Given the description of an element on the screen output the (x, y) to click on. 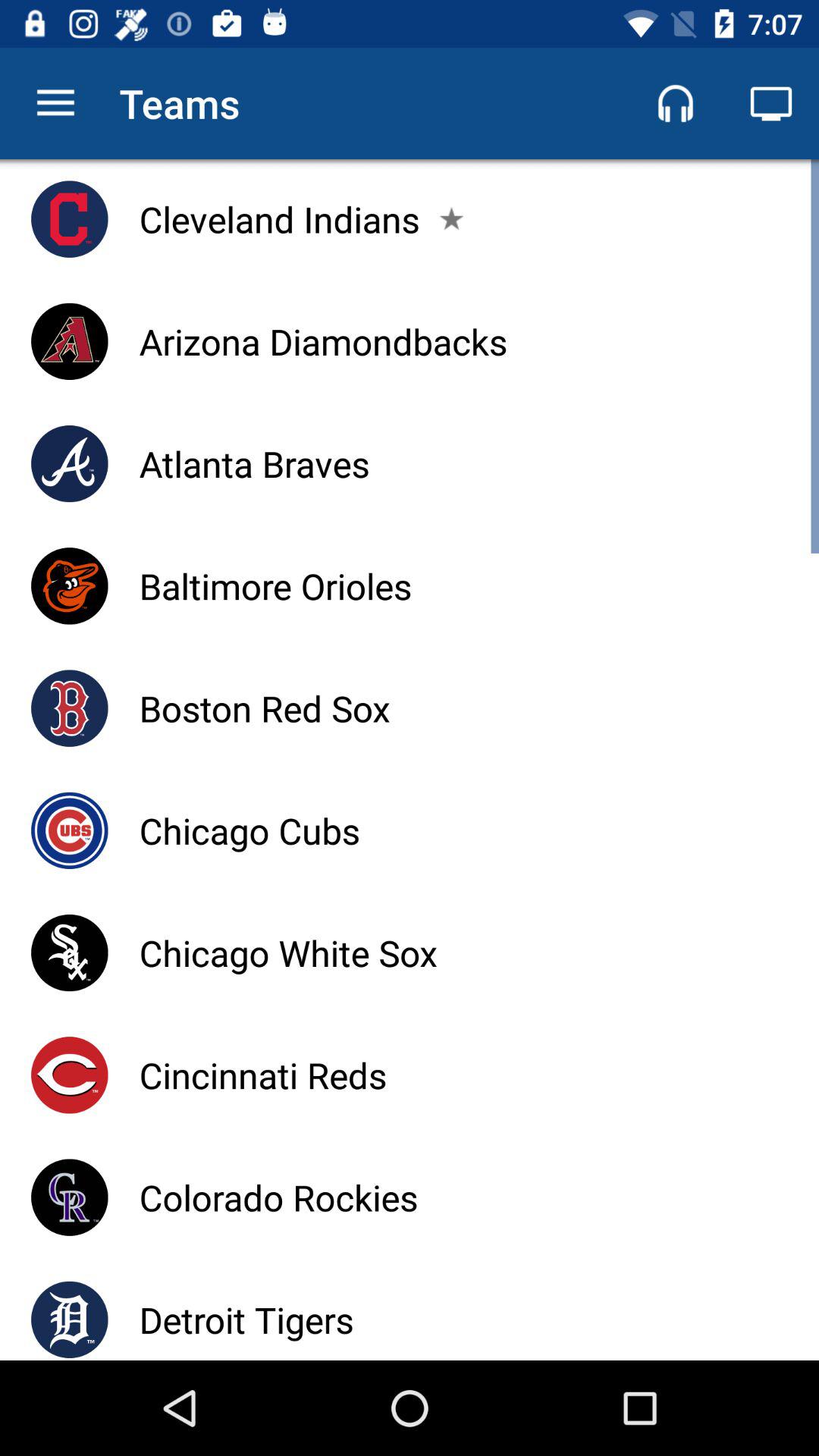
click the detroit tigers icon (246, 1319)
